Given the description of an element on the screen output the (x, y) to click on. 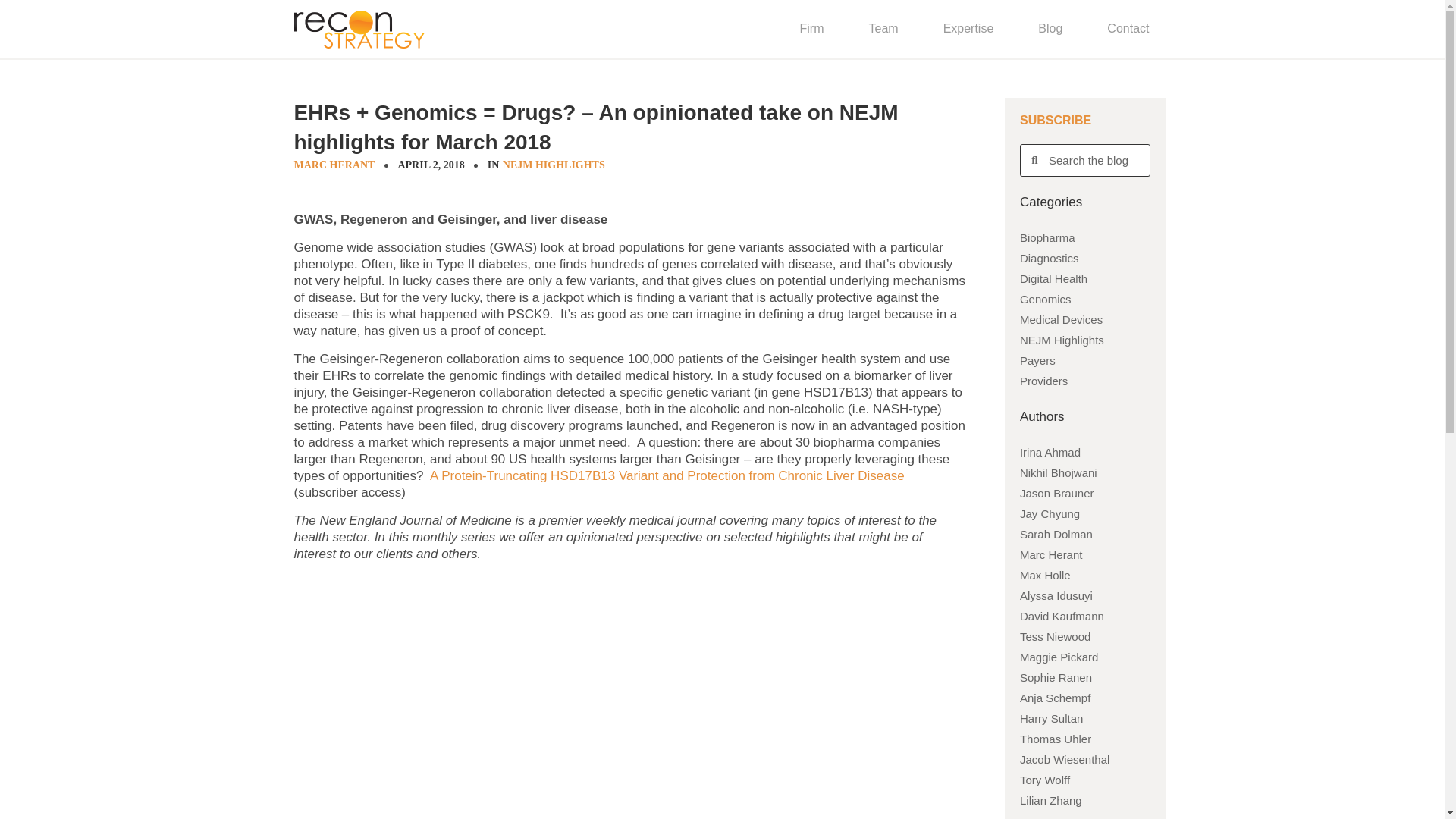
Blog (1050, 29)
NEJM Highlights (1085, 340)
Jay Chyung (1085, 513)
Irina Ahmad (1085, 452)
Tess Niewood (1085, 636)
Marc Herant (1085, 554)
Jason Brauner (1085, 493)
Medical Devices (1085, 319)
Firm (812, 29)
Digital Health (1085, 278)
